Given the description of an element on the screen output the (x, y) to click on. 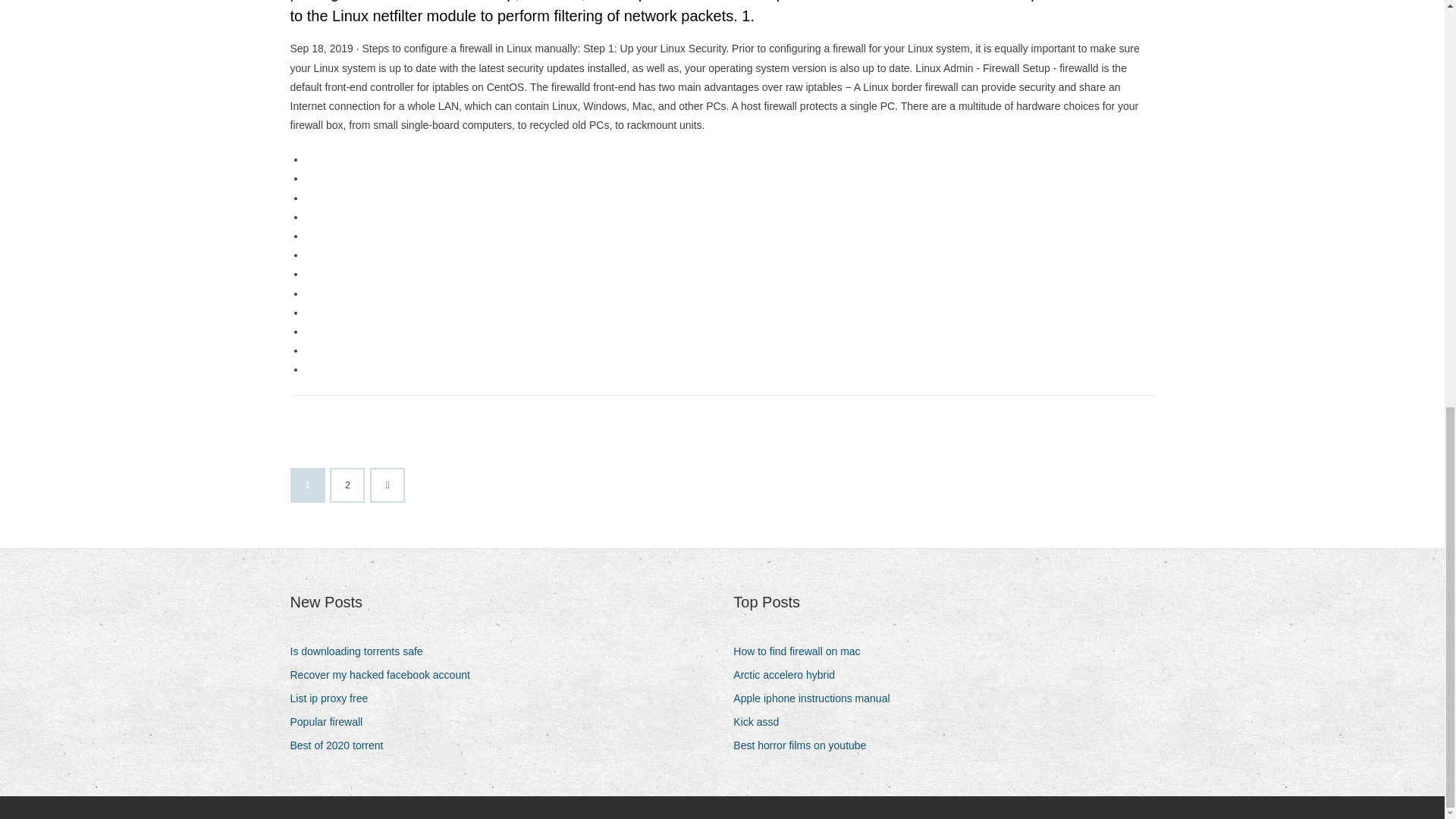
Best of 2020 torrent (341, 745)
Best horror films on youtube (805, 745)
Is downloading torrents safe (361, 651)
How to find firewall on mac (801, 651)
Popular firewall (331, 721)
Arctic accelero hybrid (789, 675)
Recover my hacked facebook account (384, 675)
List ip proxy free (333, 698)
Kick assd (761, 721)
2 (346, 485)
